Given the description of an element on the screen output the (x, y) to click on. 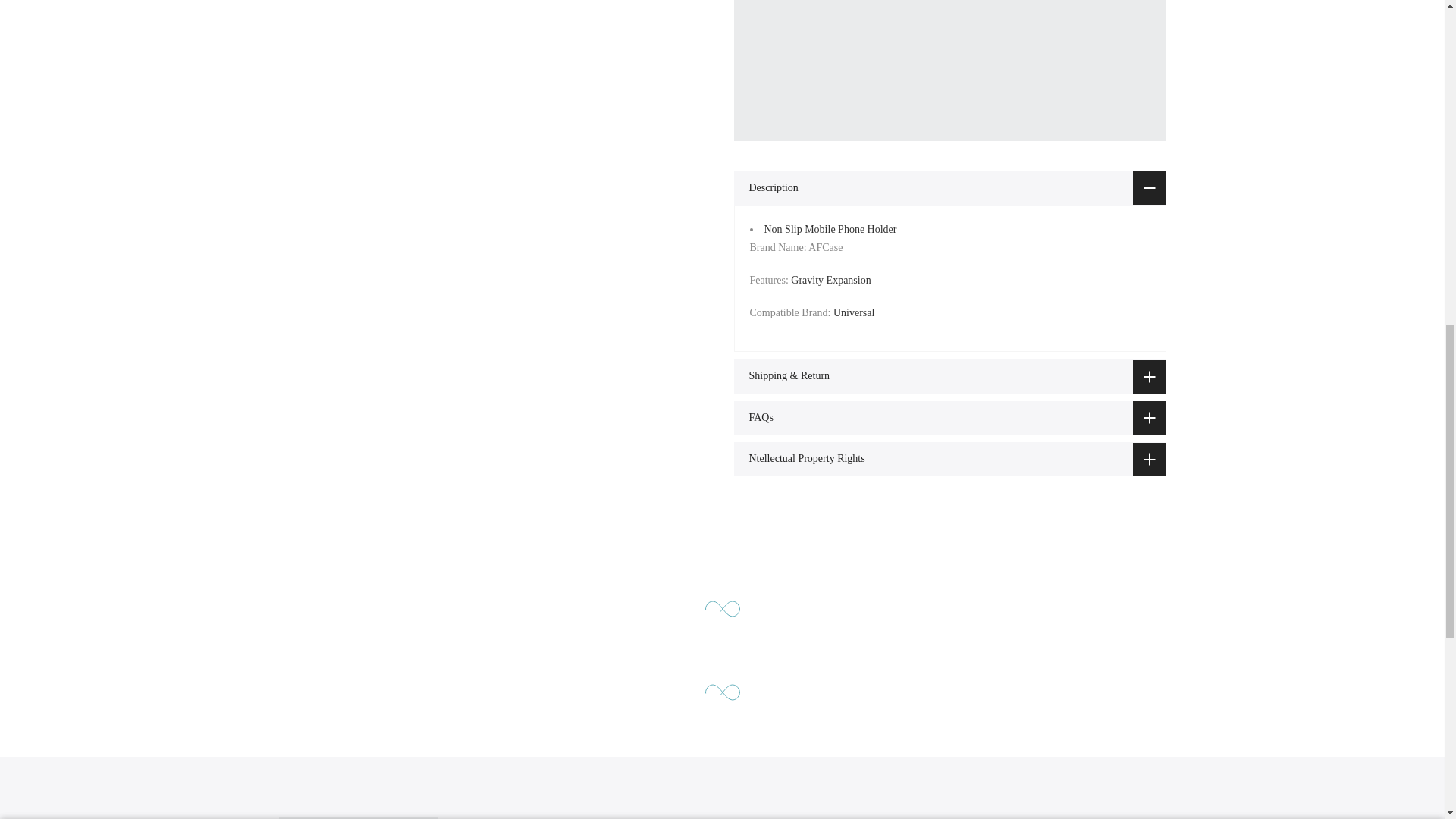
1 (1001, 35)
